Given the description of an element on the screen output the (x, y) to click on. 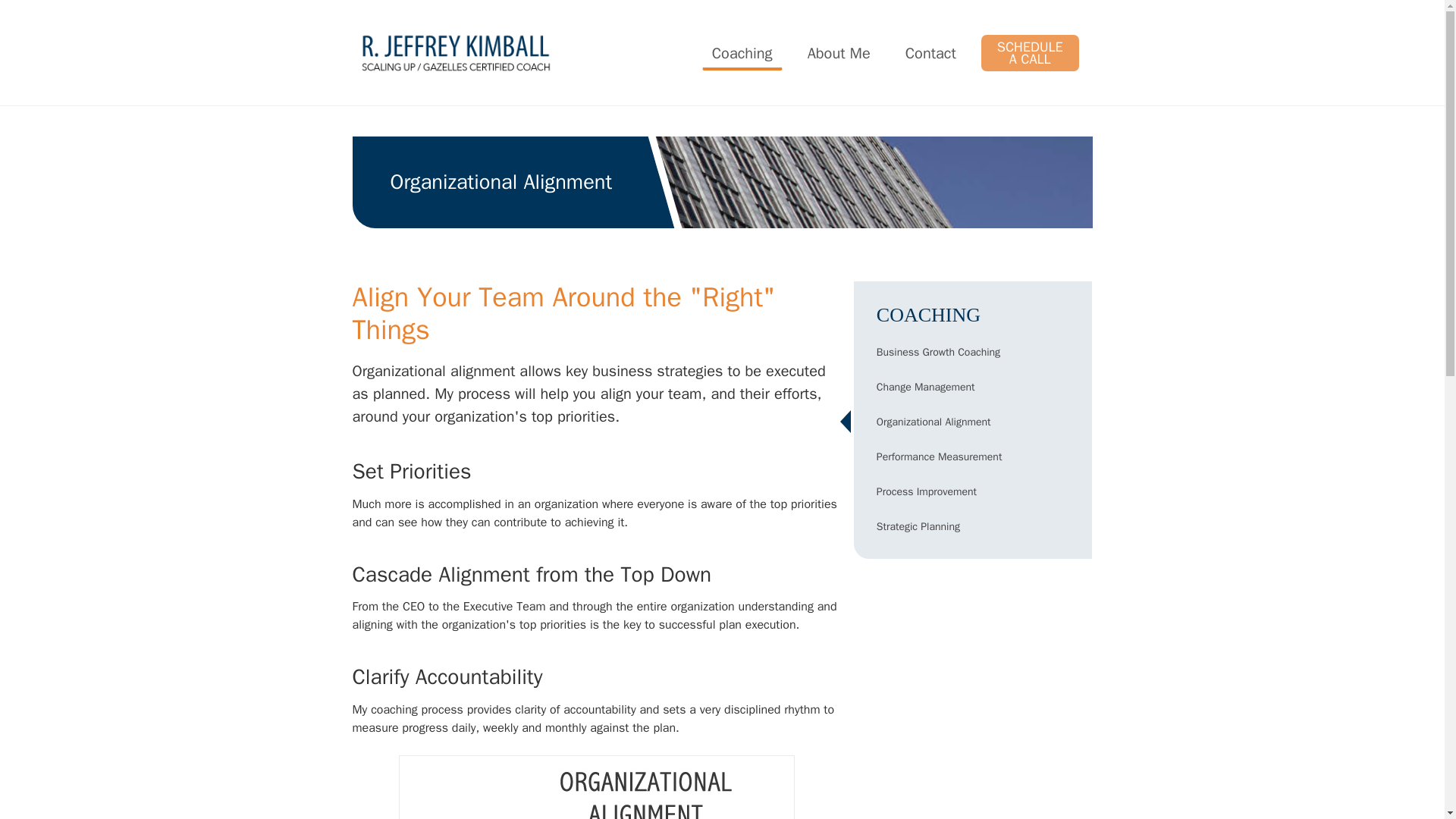
Change Management (973, 387)
Contact (930, 53)
Performance Measurement (973, 457)
Strategic Planning (973, 526)
SCHEDULE A CALL (1029, 53)
About Me (838, 53)
Coaching (742, 53)
Process Improvement (973, 492)
Business Growth Coaching (973, 352)
Organizational Alignment (973, 421)
